Given the description of an element on the screen output the (x, y) to click on. 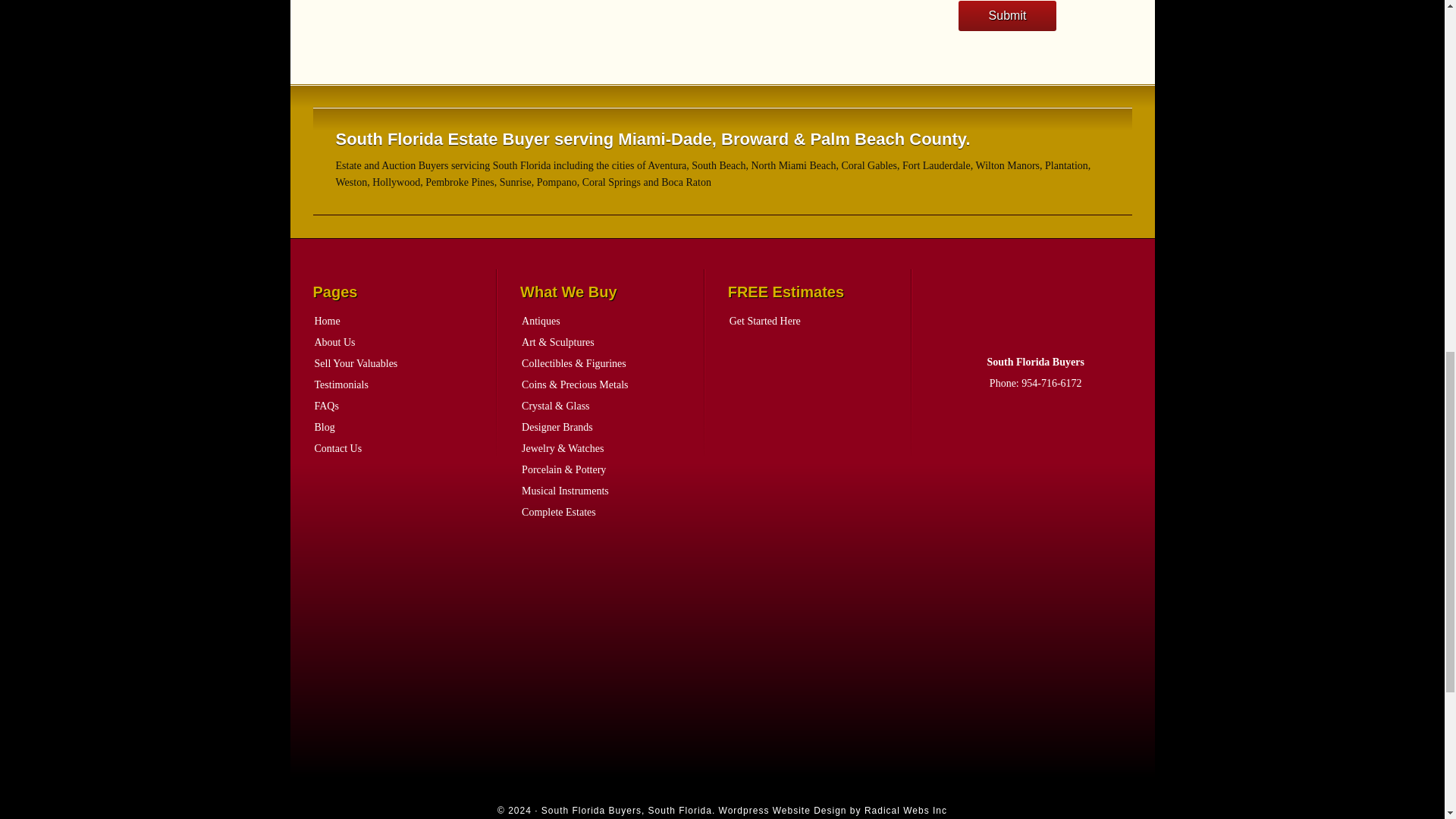
Submit (1007, 15)
